Given the description of an element on the screen output the (x, y) to click on. 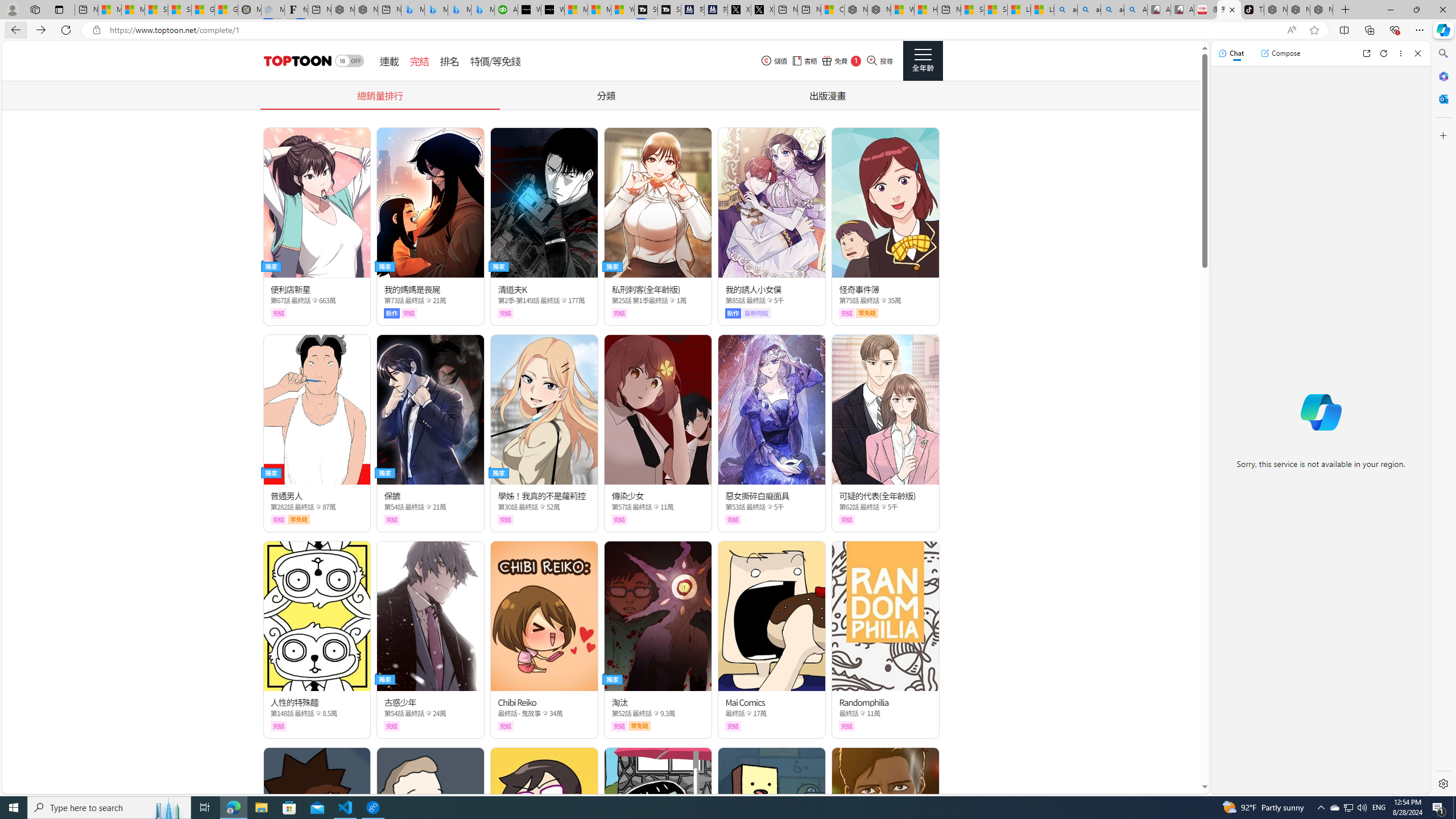
amazon - Search Images (1112, 9)
Manatee Mortality Statistics | FWC (249, 9)
Microsoft Bing Travel - Shangri-La Hotel Bangkok (482, 9)
Nordace - Siena Pro 15 Essential Set (1321, 9)
